Given the description of an element on the screen output the (x, y) to click on. 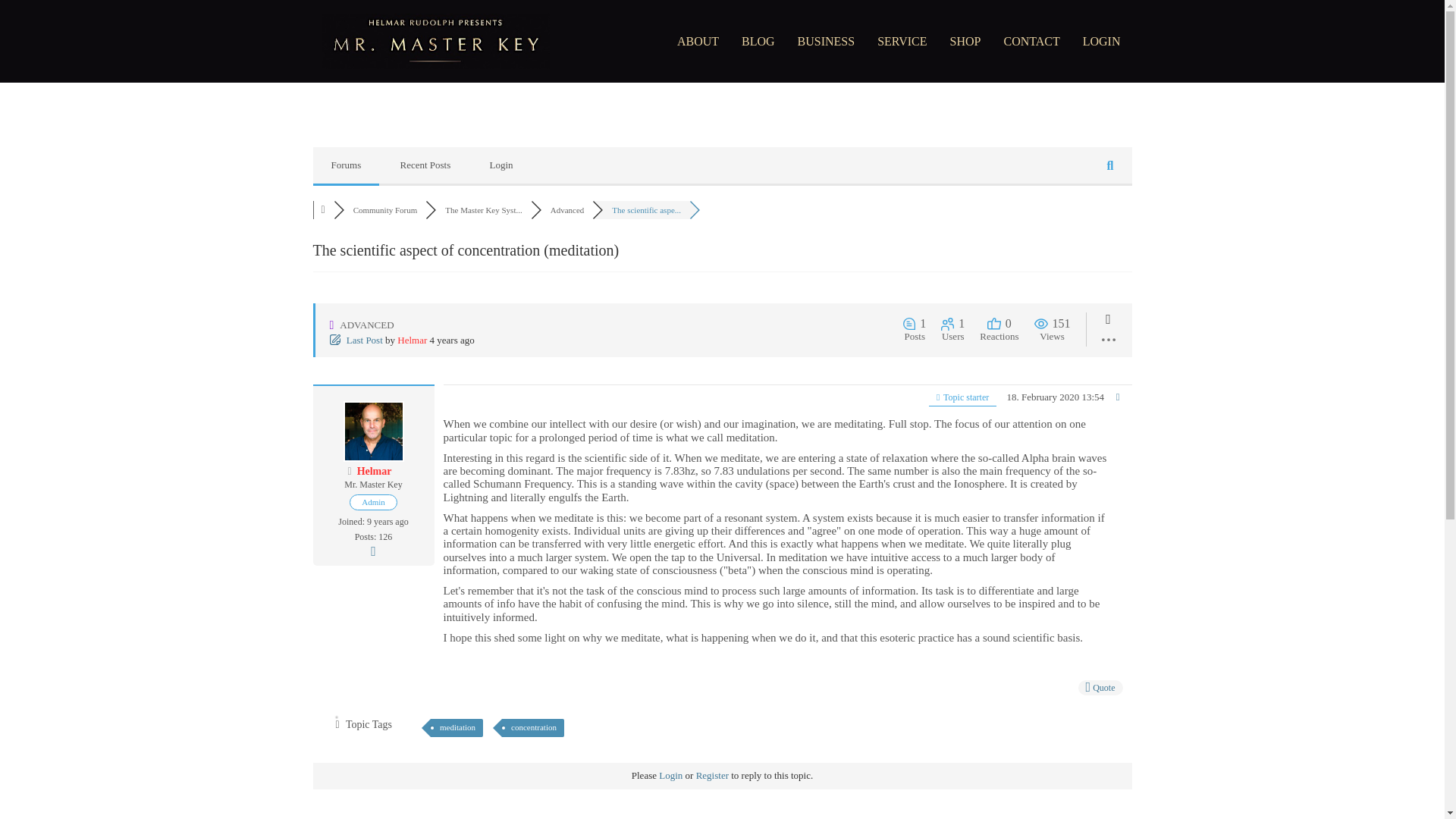
Forums (345, 165)
SHOP (965, 41)
Login (670, 775)
Recent Posts (424, 165)
Usergroup (373, 502)
Helmar (372, 431)
BLOG (758, 41)
BUSINESS (826, 41)
meditation (456, 728)
The Master Key System (483, 209)
